Given the description of an element on the screen output the (x, y) to click on. 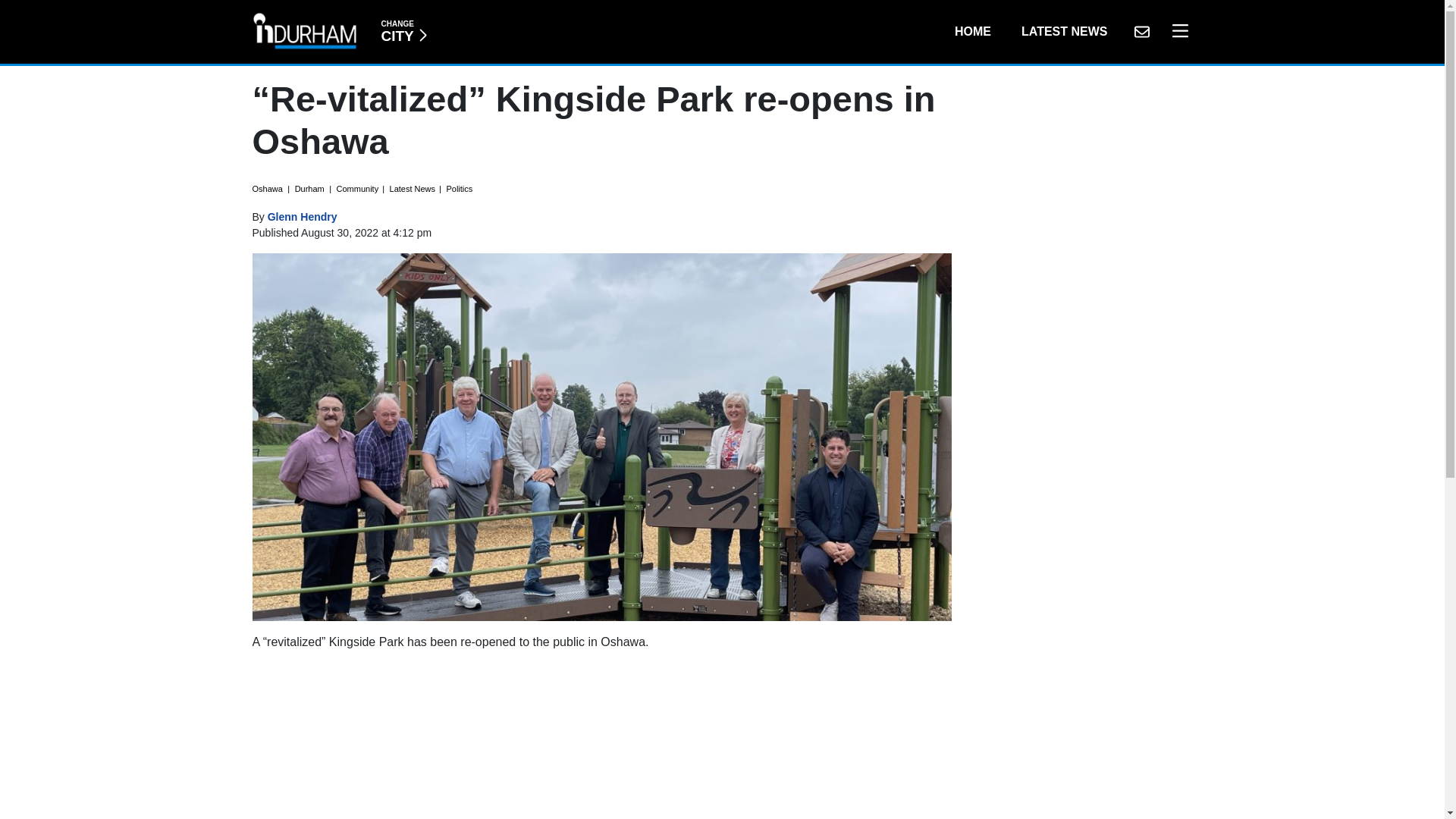
LATEST NEWS (1064, 31)
HOME (402, 31)
OPEN MENU (972, 31)
3rd party ad content (1176, 31)
SIGN UP FOR OUR NEWSLETTER (601, 741)
Posts by 946 (1141, 31)
